Given the description of an element on the screen output the (x, y) to click on. 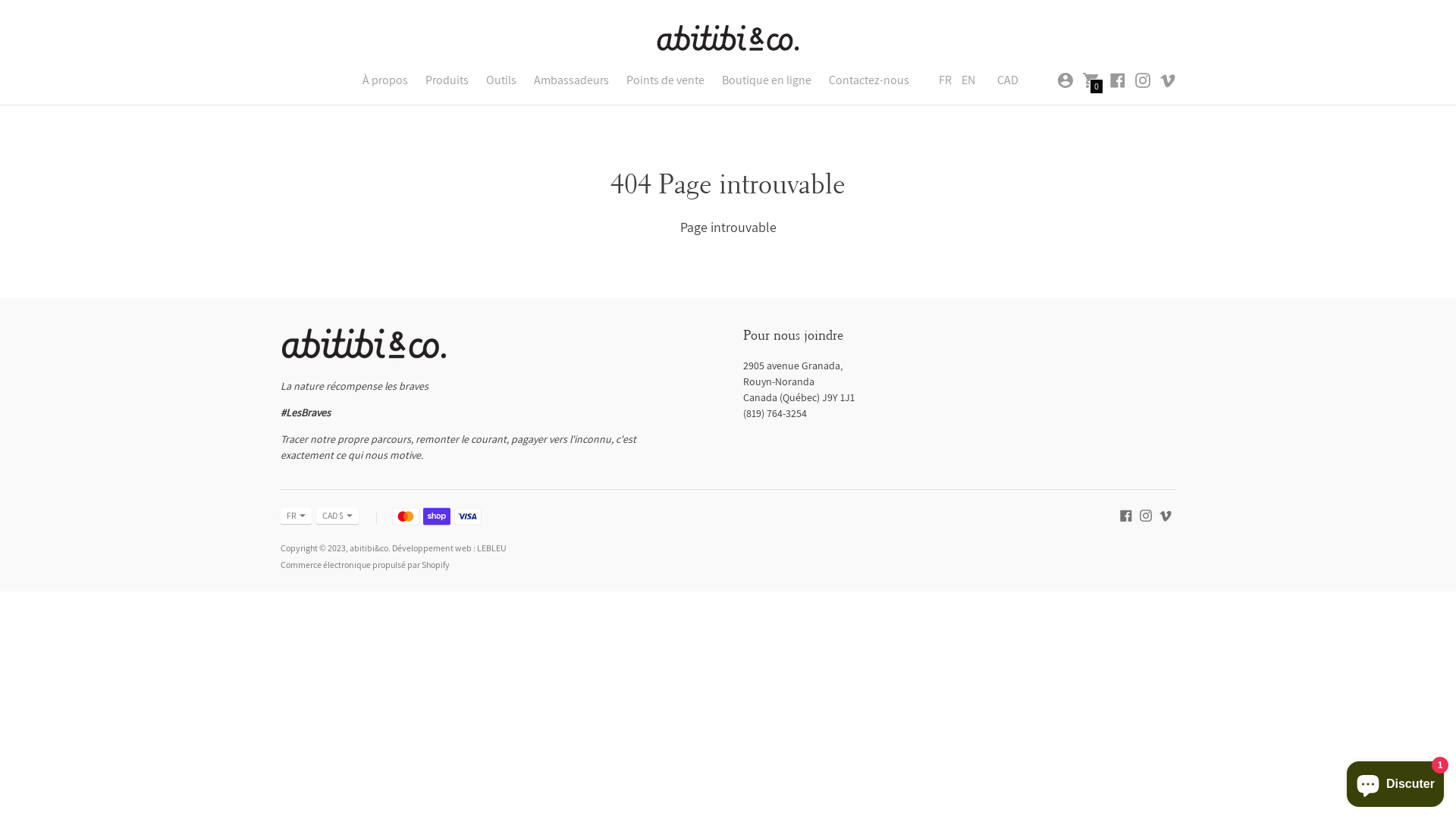
Chat de la boutique en ligne Shopify Element type: hover (1395, 780)
abitibi&co sur Facebook Element type: hover (1117, 79)
abitibi&co sur Instagram Element type: hover (1145, 514)
Outils Element type: text (501, 79)
Produits Element type: text (446, 79)
LEBLEU Element type: text (491, 547)
Points de vente Element type: text (665, 79)
abitibi&co sur Vimeo, Element type: hover (1167, 79)
abitibi&co Element type: text (368, 547)
EN Element type: text (968, 80)
abitibi&co sur Instagram Element type: hover (1142, 79)
FR Element type: text (944, 80)
FR Element type: text (295, 515)
CAD Element type: text (1007, 79)
abitibi&co sur Vimeo, Element type: hover (1165, 514)
CAD $ Element type: text (337, 515)
0 Element type: text (1091, 79)
Ambassadeurs Element type: text (570, 79)
Boutique en ligne Element type: text (766, 79)
Contactez-nous Element type: text (868, 79)
abitibi&co sur Facebook Element type: hover (1126, 514)
